Given the description of an element on the screen output the (x, y) to click on. 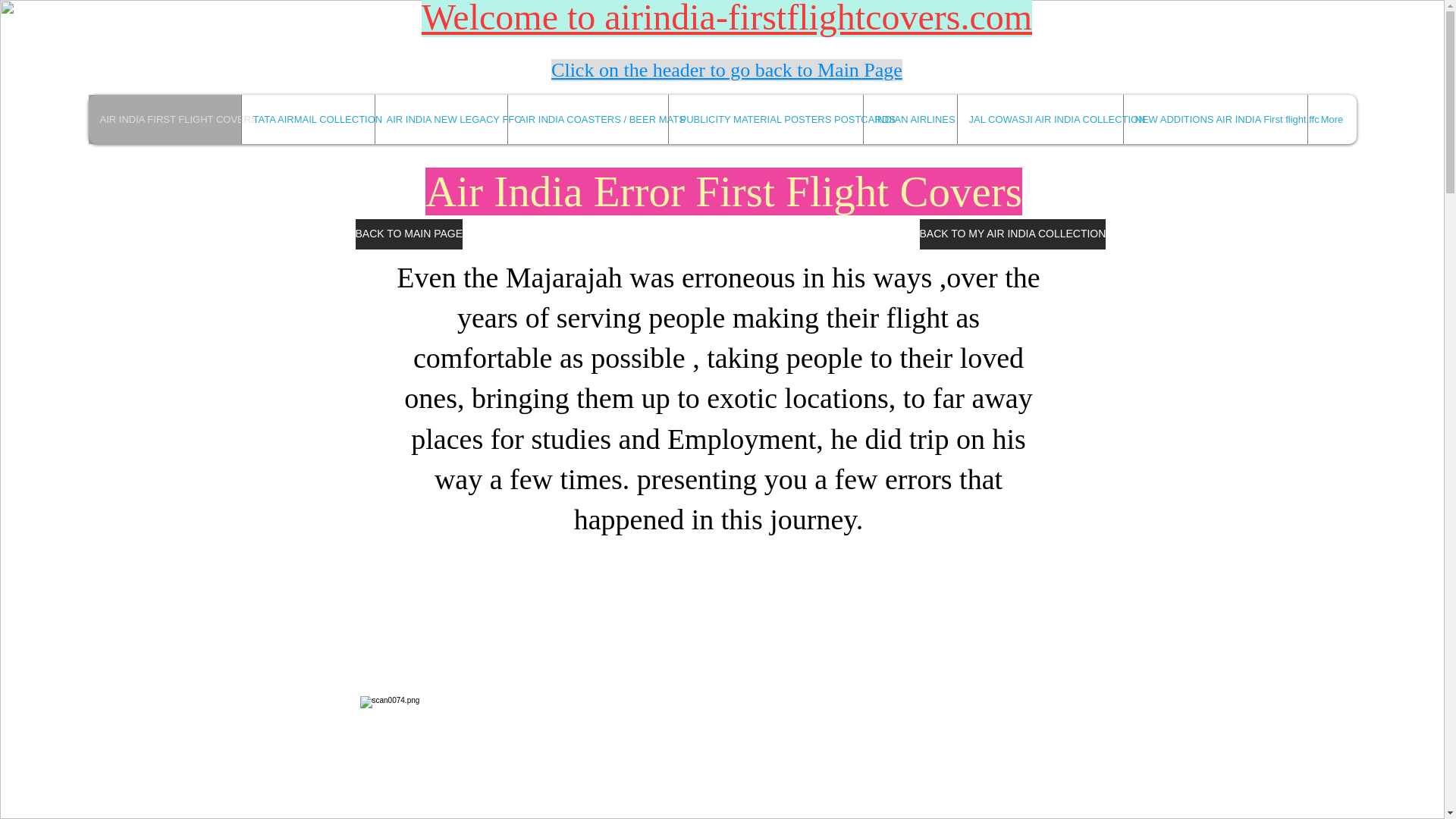
TATA AIRMAIL COLLECTION (307, 119)
Click on the header to go back to Main Page (726, 69)
Welcome to airindia-firstflightcovers.com (727, 18)
AIR INDIA FIRST FLIGHT COVERS (163, 119)
